Given the description of an element on the screen output the (x, y) to click on. 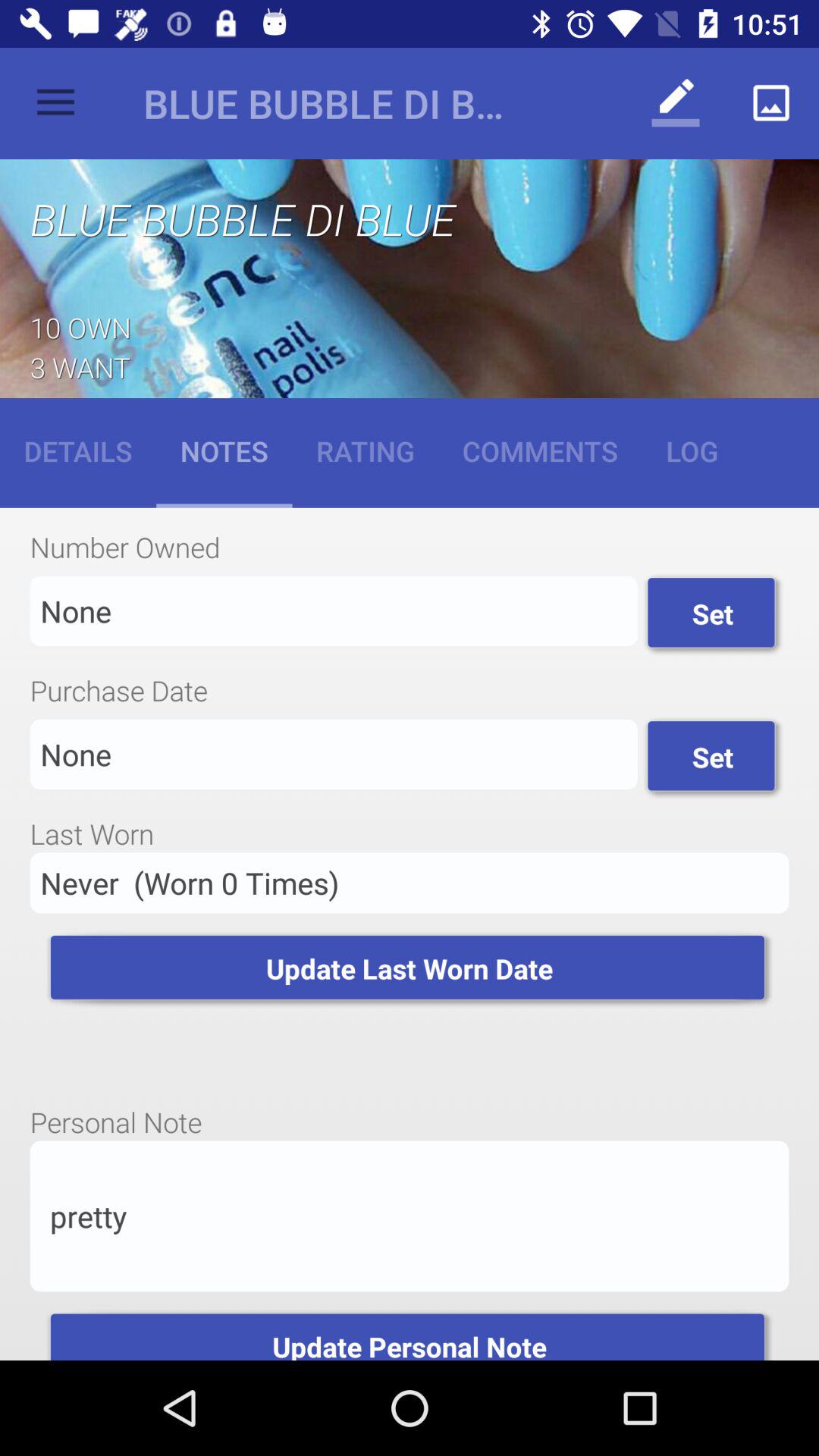
swipe until the details item (78, 450)
